Given the description of an element on the screen output the (x, y) to click on. 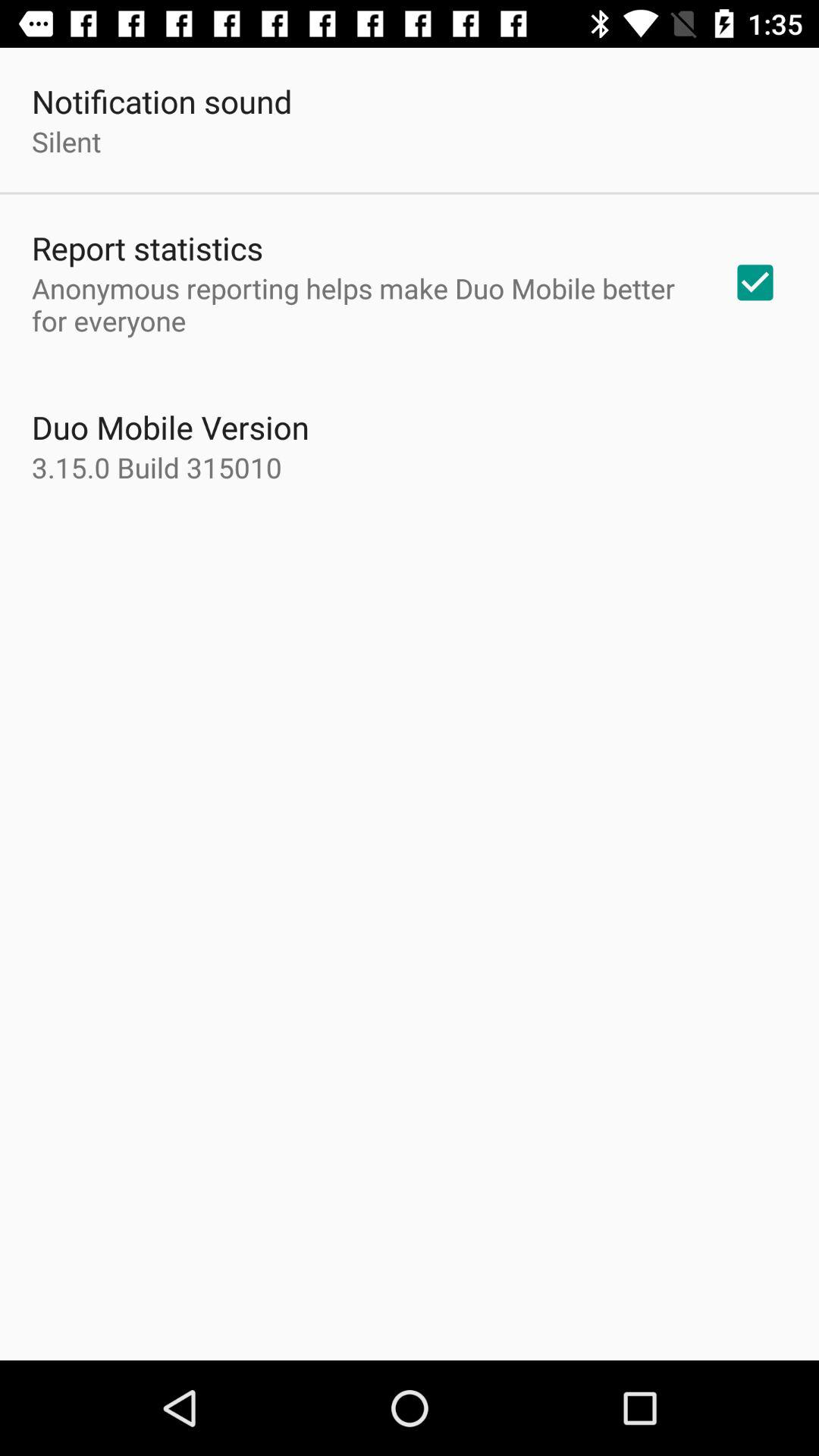
press the app below the silent (147, 247)
